Given the description of an element on the screen output the (x, y) to click on. 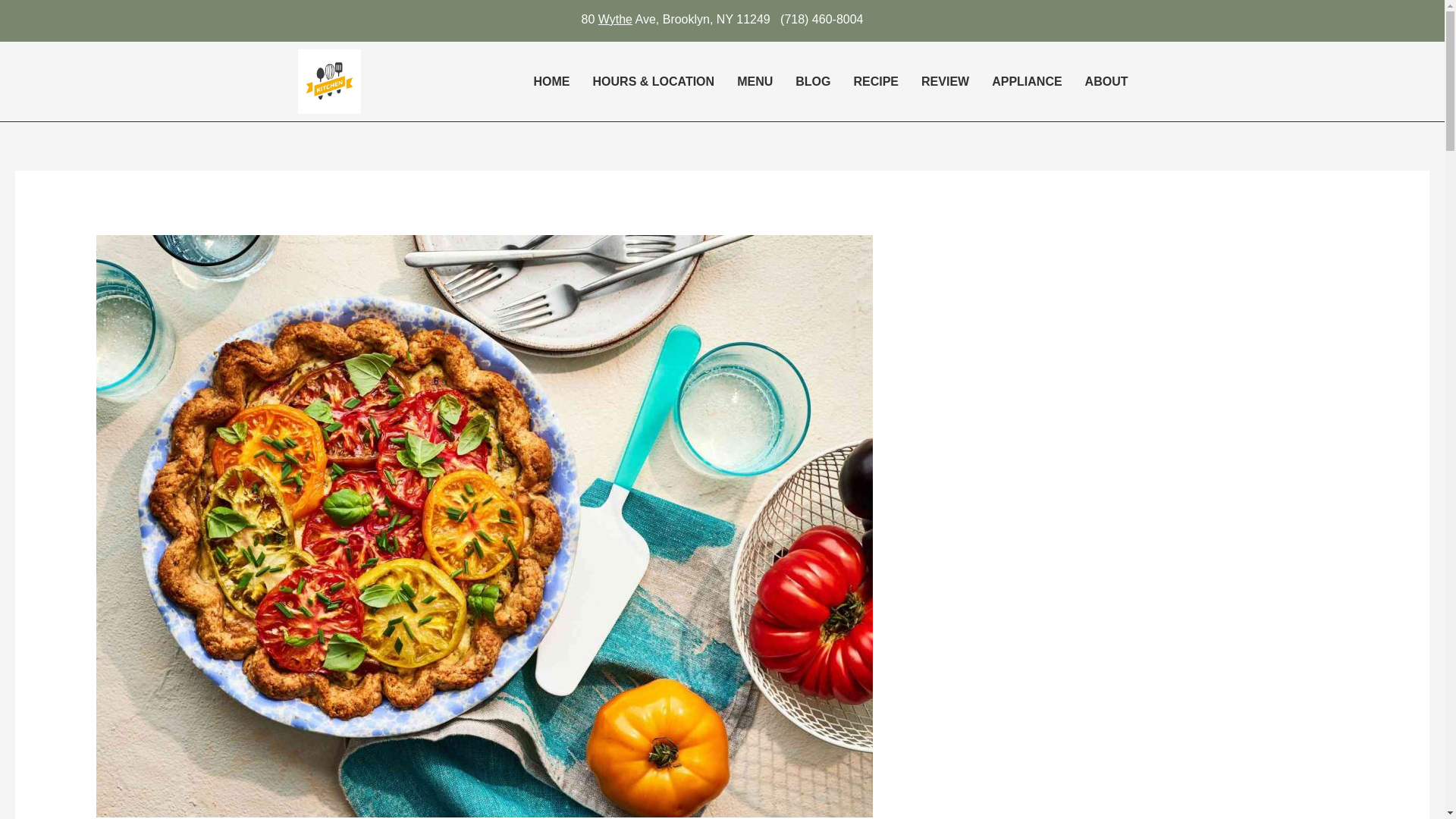
BLOG (812, 81)
80 Wythe Ave, Brooklyn, NY 11249 (675, 19)
REVIEW (944, 81)
ABOUT (1110, 81)
RECIPE (875, 81)
HOME (551, 81)
MENU (754, 81)
APPLIANCE (1026, 81)
